Given the description of an element on the screen output the (x, y) to click on. 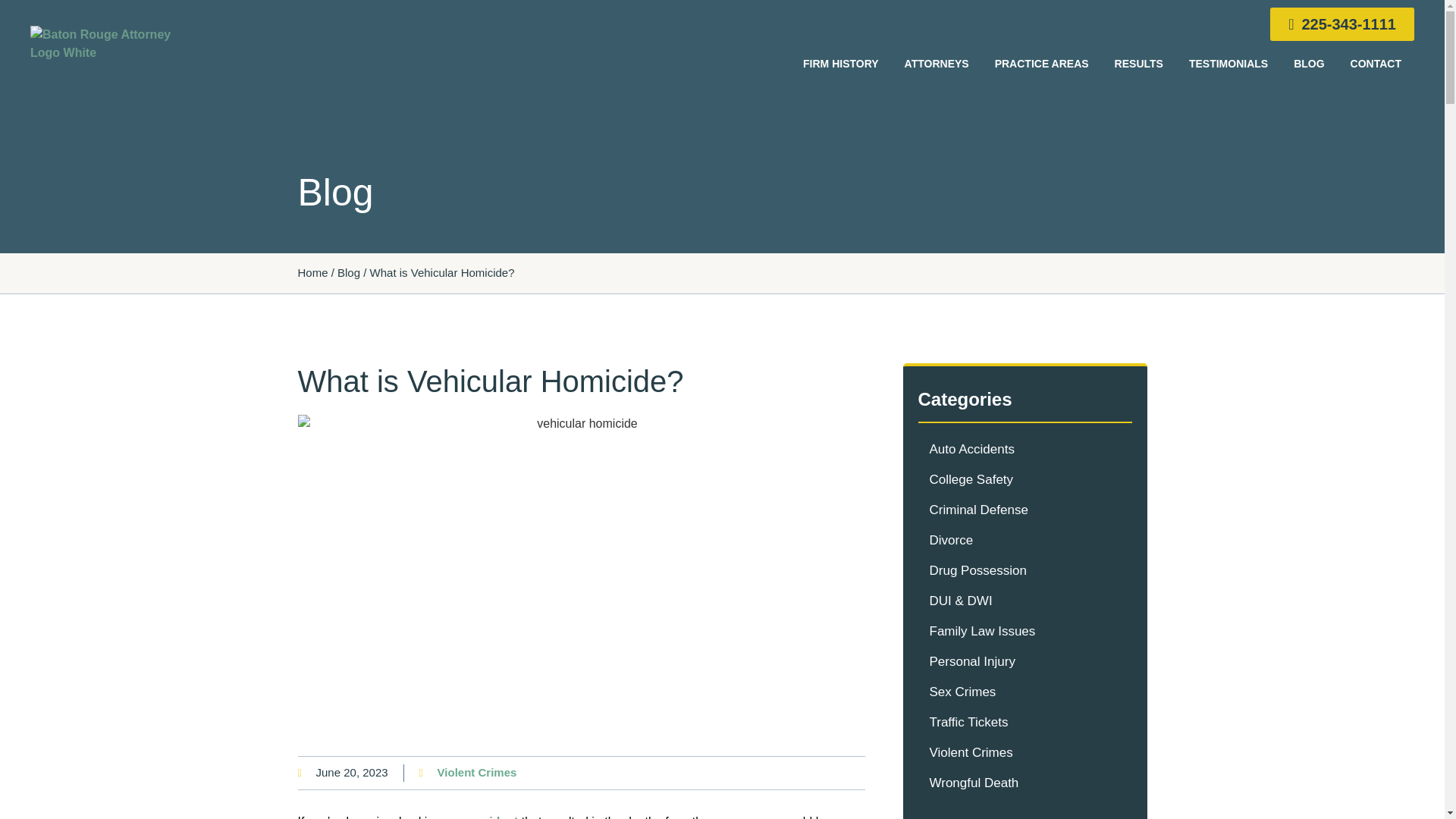
ATTORNEYS (936, 63)
FIRM HISTORY (840, 63)
225-343-1111 (1341, 23)
PRACTICE AREAS (1041, 63)
